Given the description of an element on the screen output the (x, y) to click on. 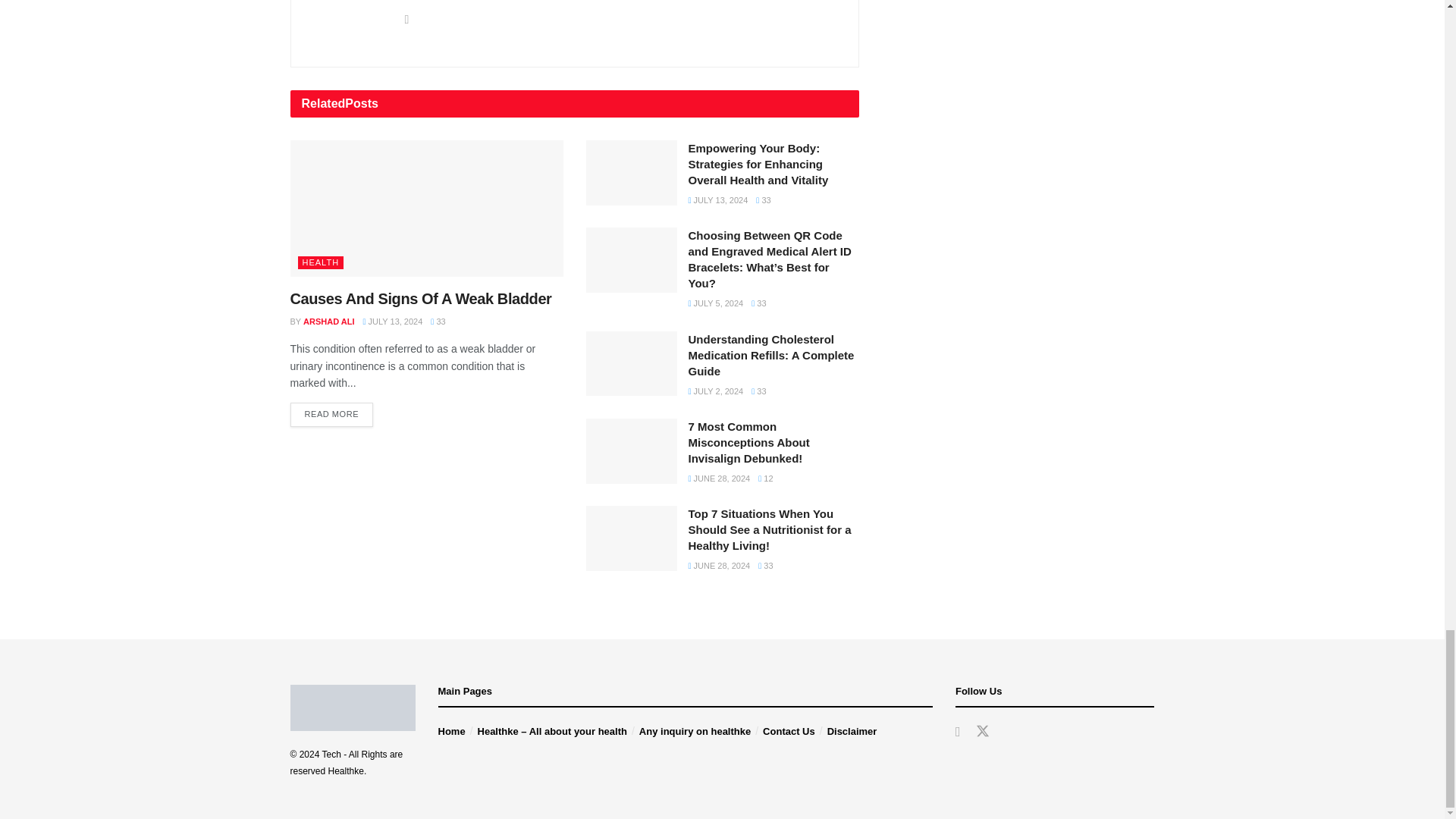
Healthke (346, 770)
Tech (330, 754)
